Given the description of an element on the screen output the (x, y) to click on. 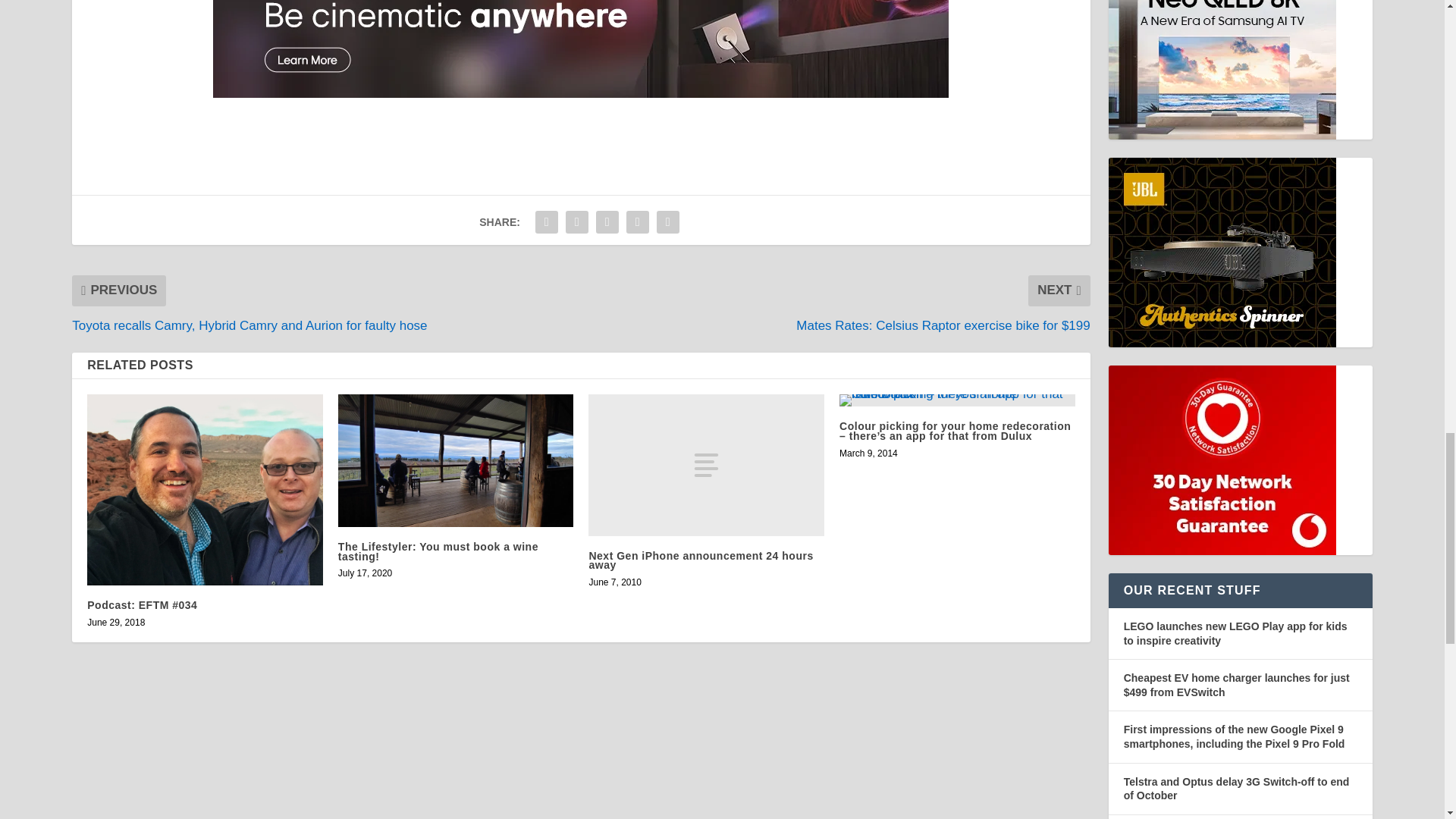
The Lifestyler: You must book a wine tasting! (455, 460)
Next Gen iPhone announcement 24 hours away (706, 464)
